Given the description of an element on the screen output the (x, y) to click on. 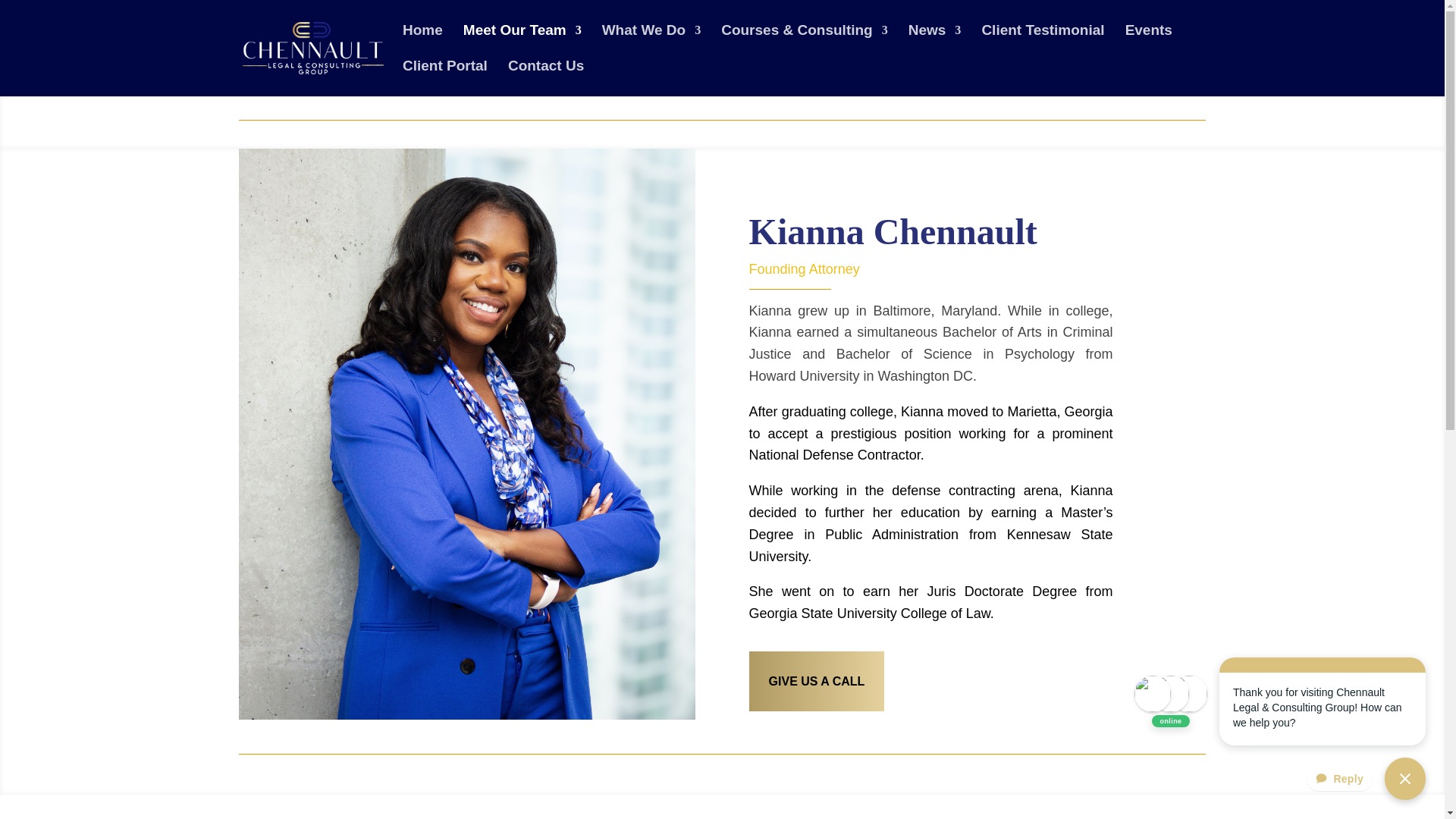
Client Testimonial (1042, 42)
Contact Us (545, 78)
Events (1148, 42)
Client Portal (445, 78)
News (934, 42)
What We Do (651, 42)
Home (422, 42)
Meet Our Team (521, 42)
